Given the description of an element on the screen output the (x, y) to click on. 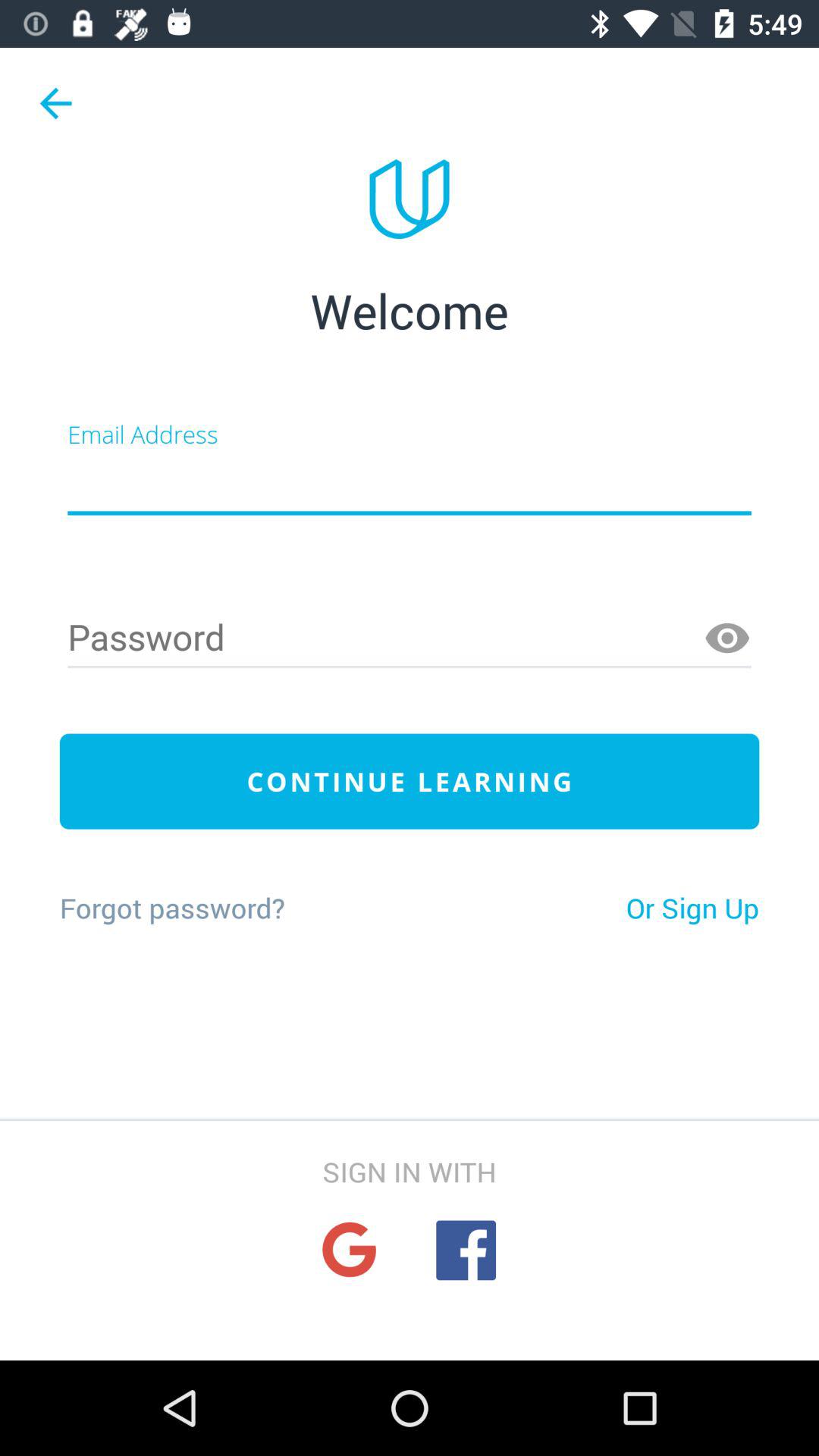
sings in with facebook (465, 1250)
